Given the description of an element on the screen output the (x, y) to click on. 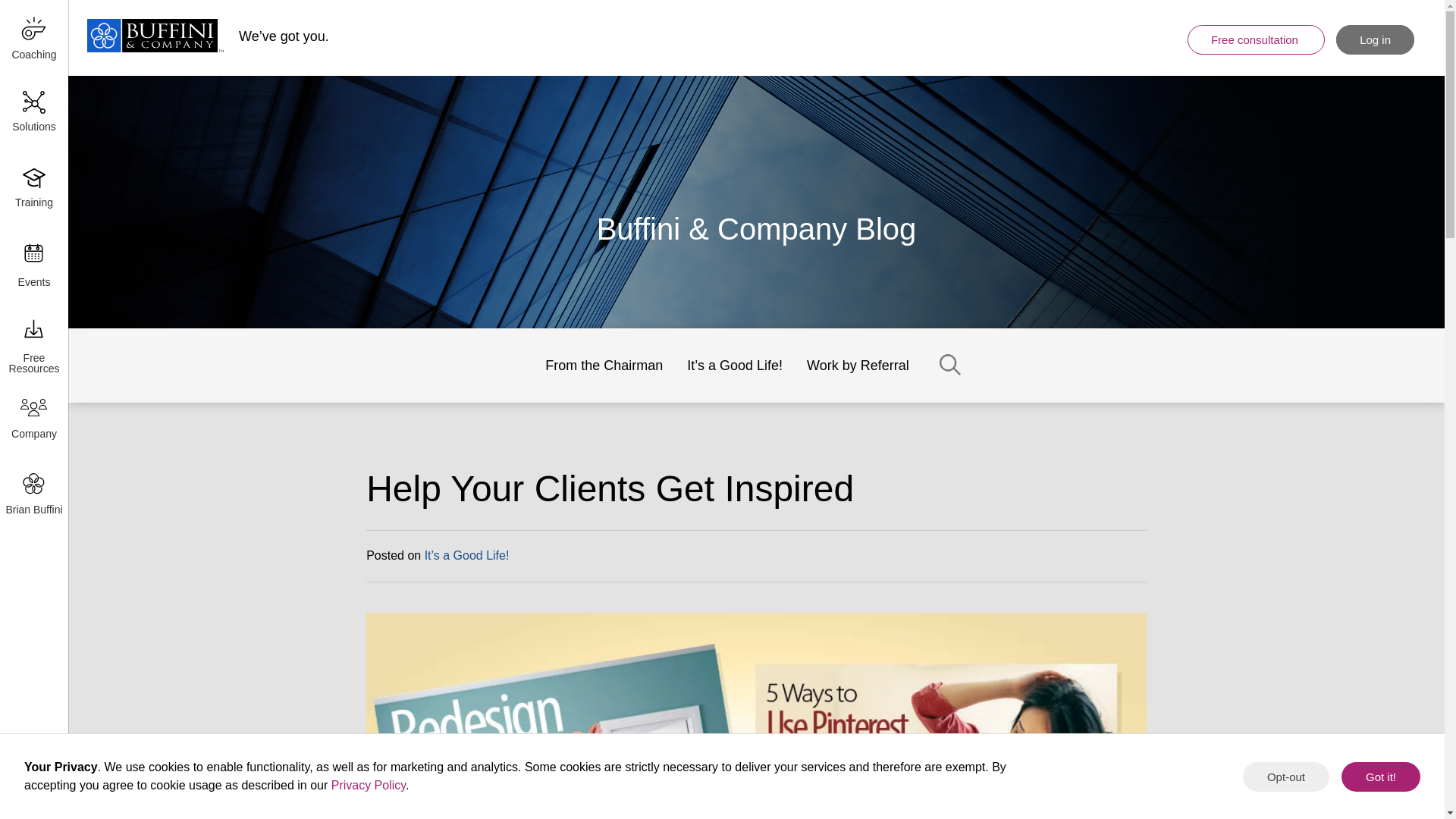
Free consultation (1256, 39)
Coaching (33, 37)
Log in (1374, 39)
Solutions (33, 113)
Training (33, 189)
